Given the description of an element on the screen output the (x, y) to click on. 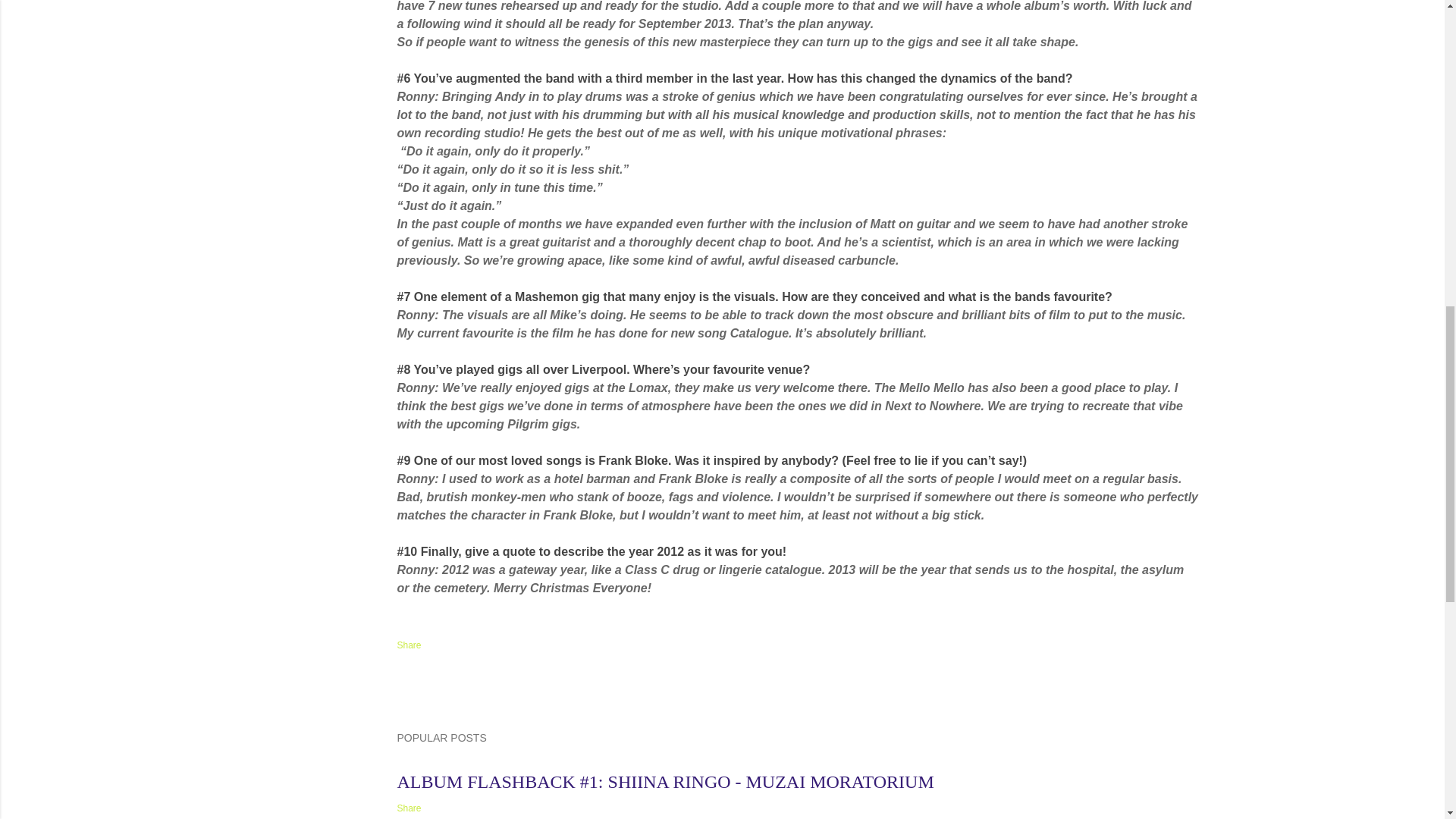
Share (409, 808)
permanent link (424, 762)
May 22, 2013 (424, 762)
Share (409, 644)
